Given the description of an element on the screen output the (x, y) to click on. 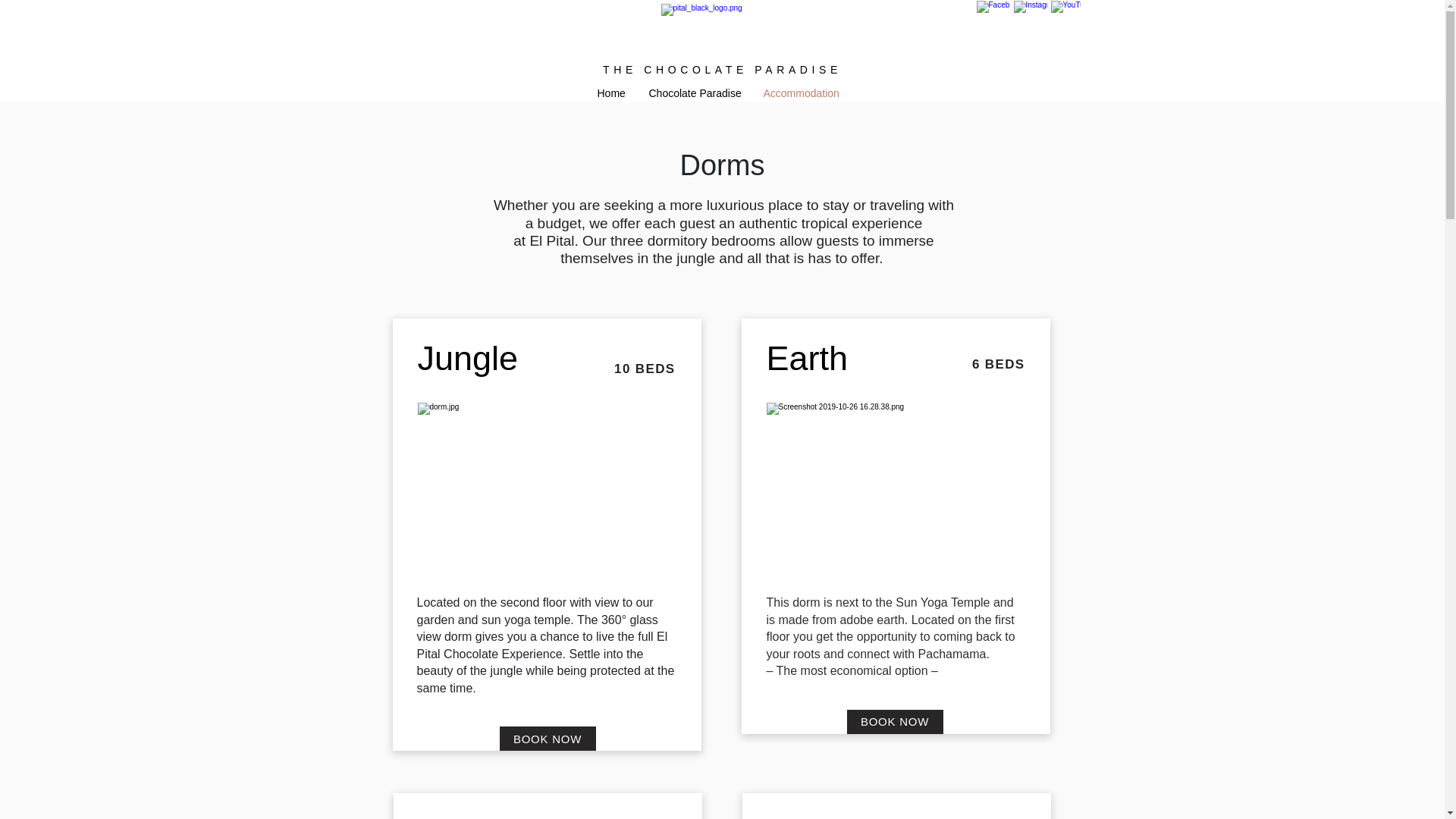
Accommodation (802, 93)
BOOK NOW (547, 738)
Chocolate Paradise (694, 93)
Home (611, 93)
BOOK NOW (893, 721)
